Given the description of an element on the screen output the (x, y) to click on. 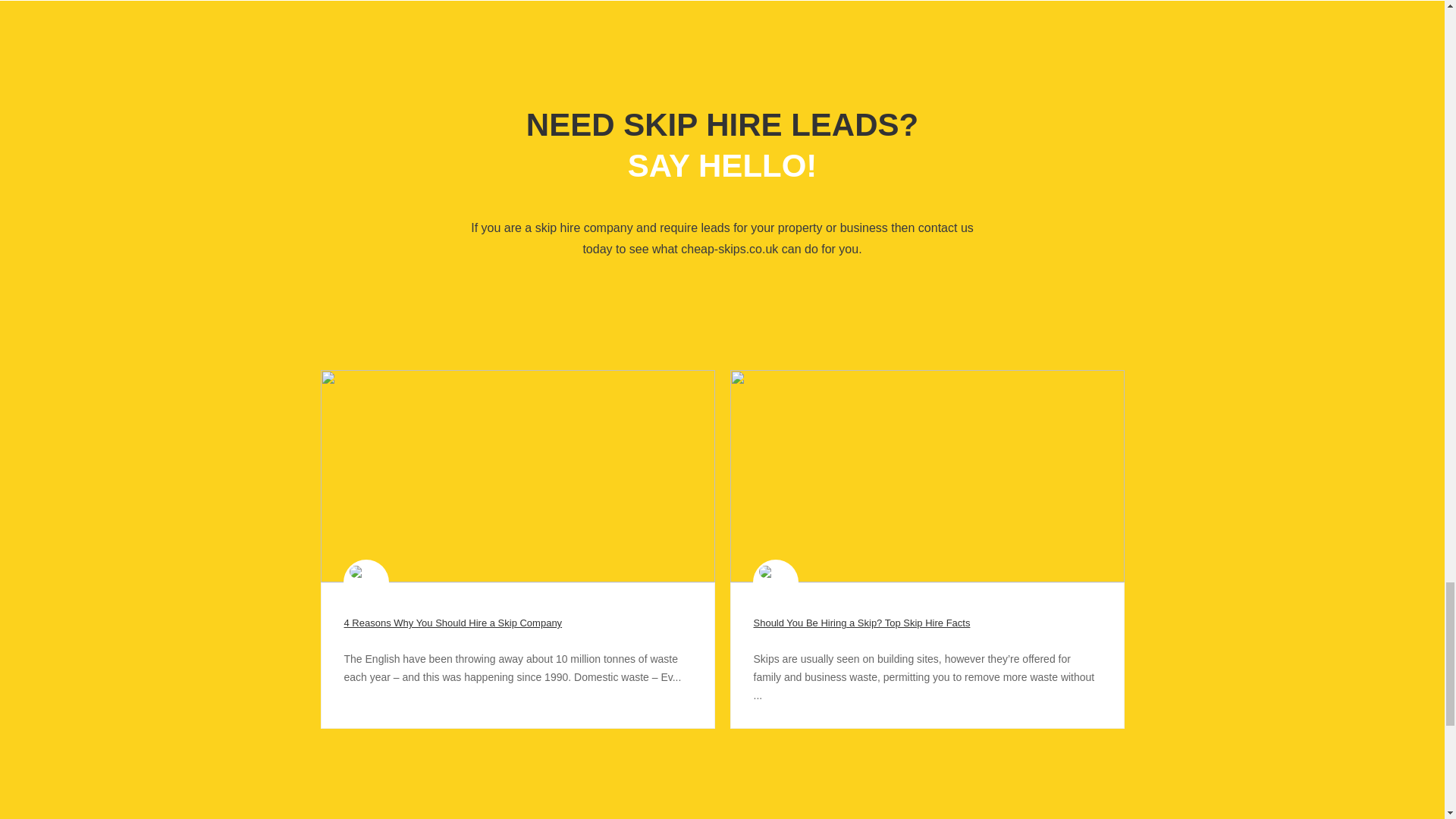
4 Reasons Why You Should Hire a Skip Company (452, 622)
Should You Be Hiring a Skip? Top Skip Hire Facts (862, 622)
